Given the description of an element on the screen output the (x, y) to click on. 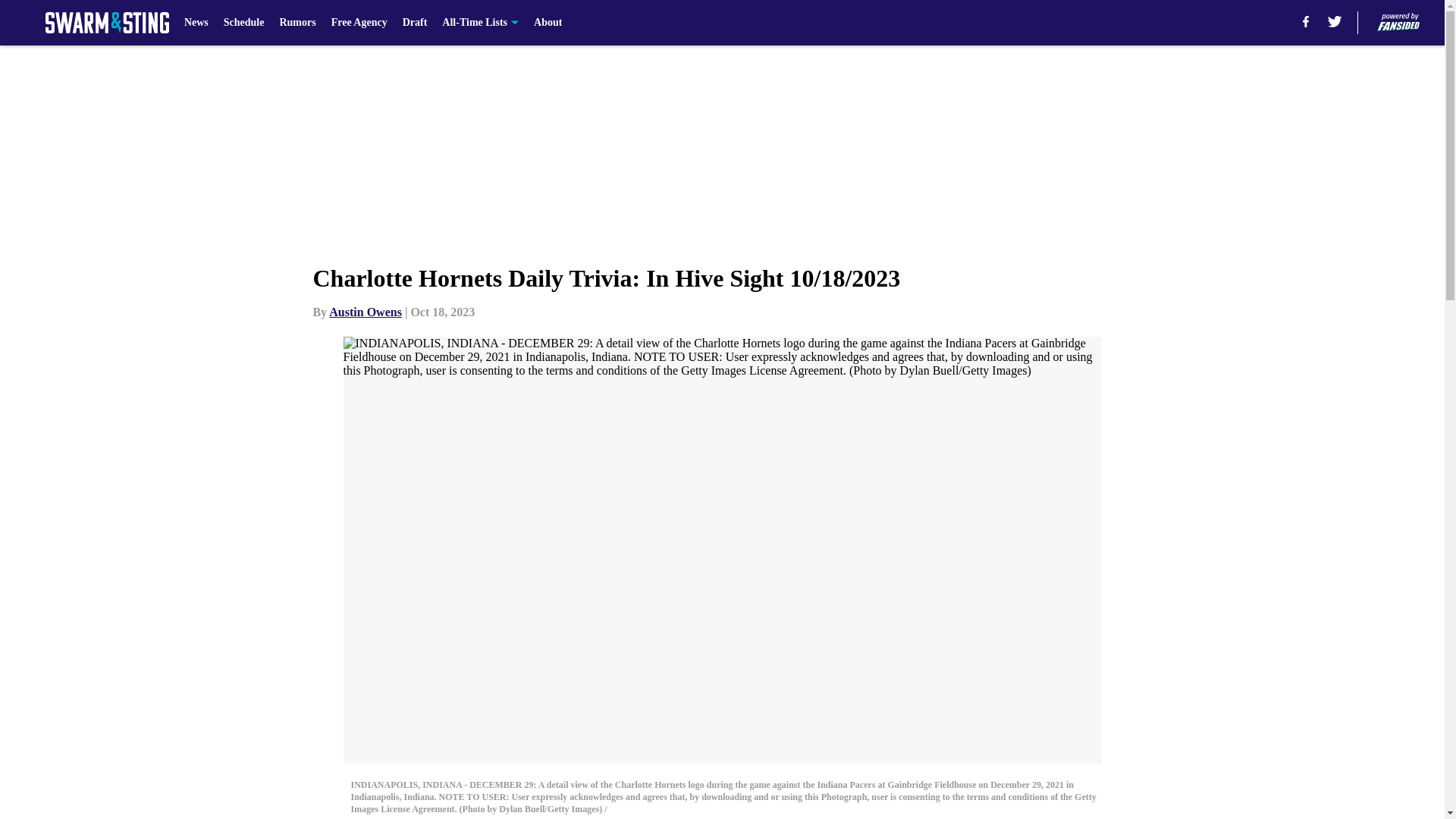
Austin Owens (365, 311)
Schedule (244, 22)
About (548, 22)
Draft (415, 22)
Free Agency (359, 22)
Rumors (297, 22)
All-Time Lists (480, 22)
News (196, 22)
